Given the description of an element on the screen output the (x, y) to click on. 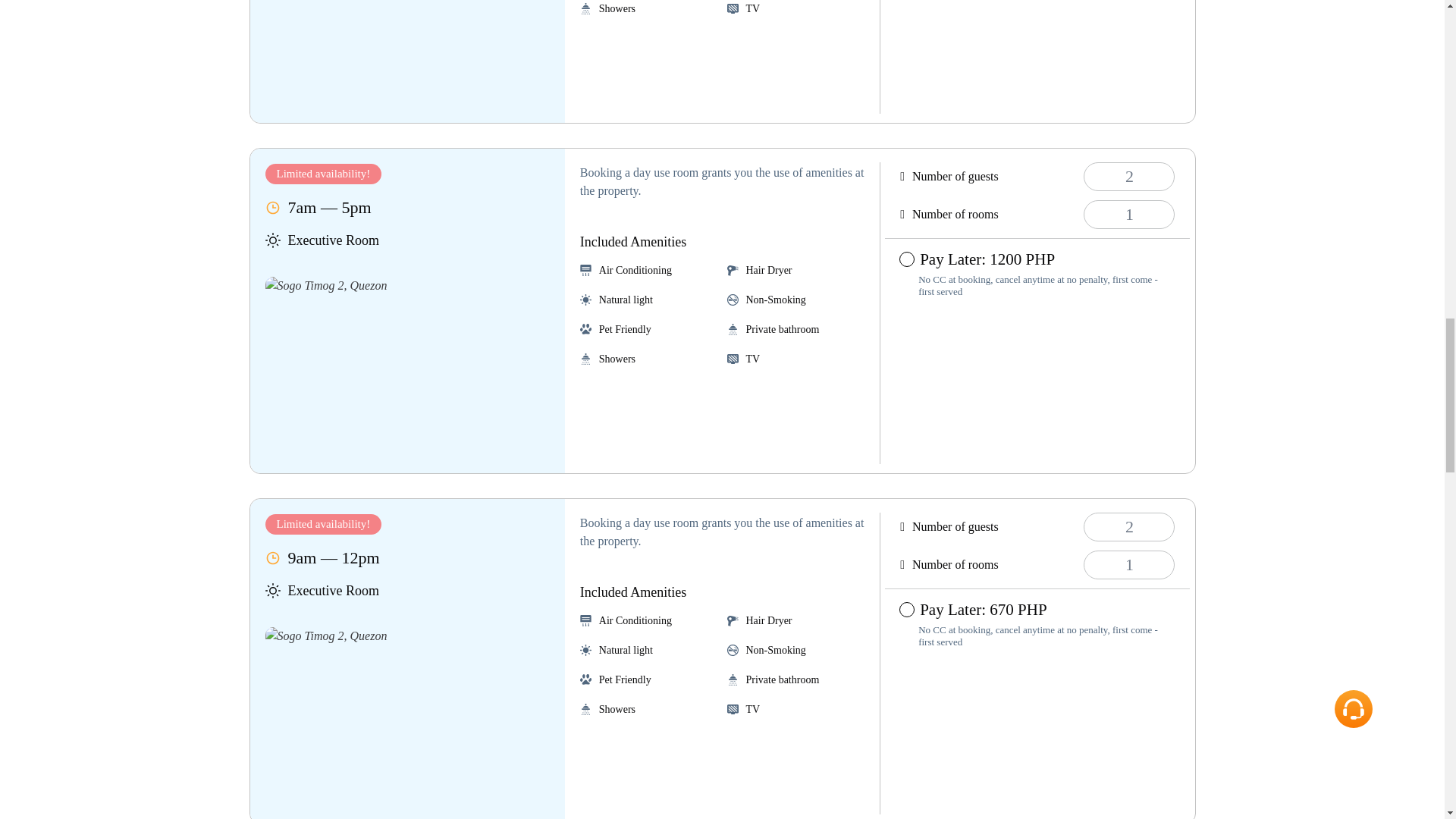
1 (1128, 564)
2 (1128, 526)
1 (1128, 214)
2 (1128, 176)
